Given the description of an element on the screen output the (x, y) to click on. 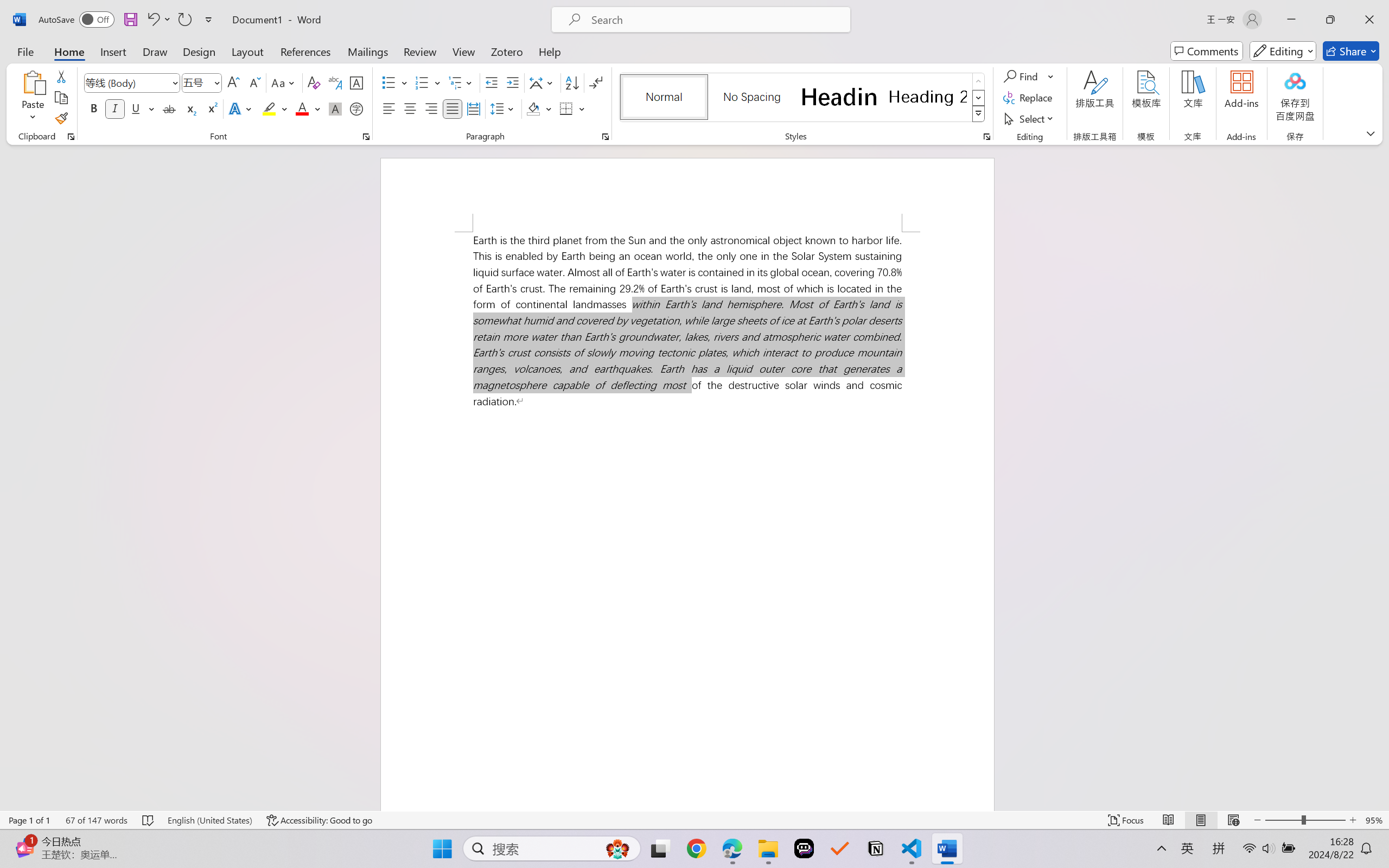
Row up (978, 81)
Help (549, 51)
Phonetic Guide... (334, 82)
Select (1030, 118)
Center (409, 108)
Text Highlight Color Yellow (269, 108)
